Given the description of an element on the screen output the (x, y) to click on. 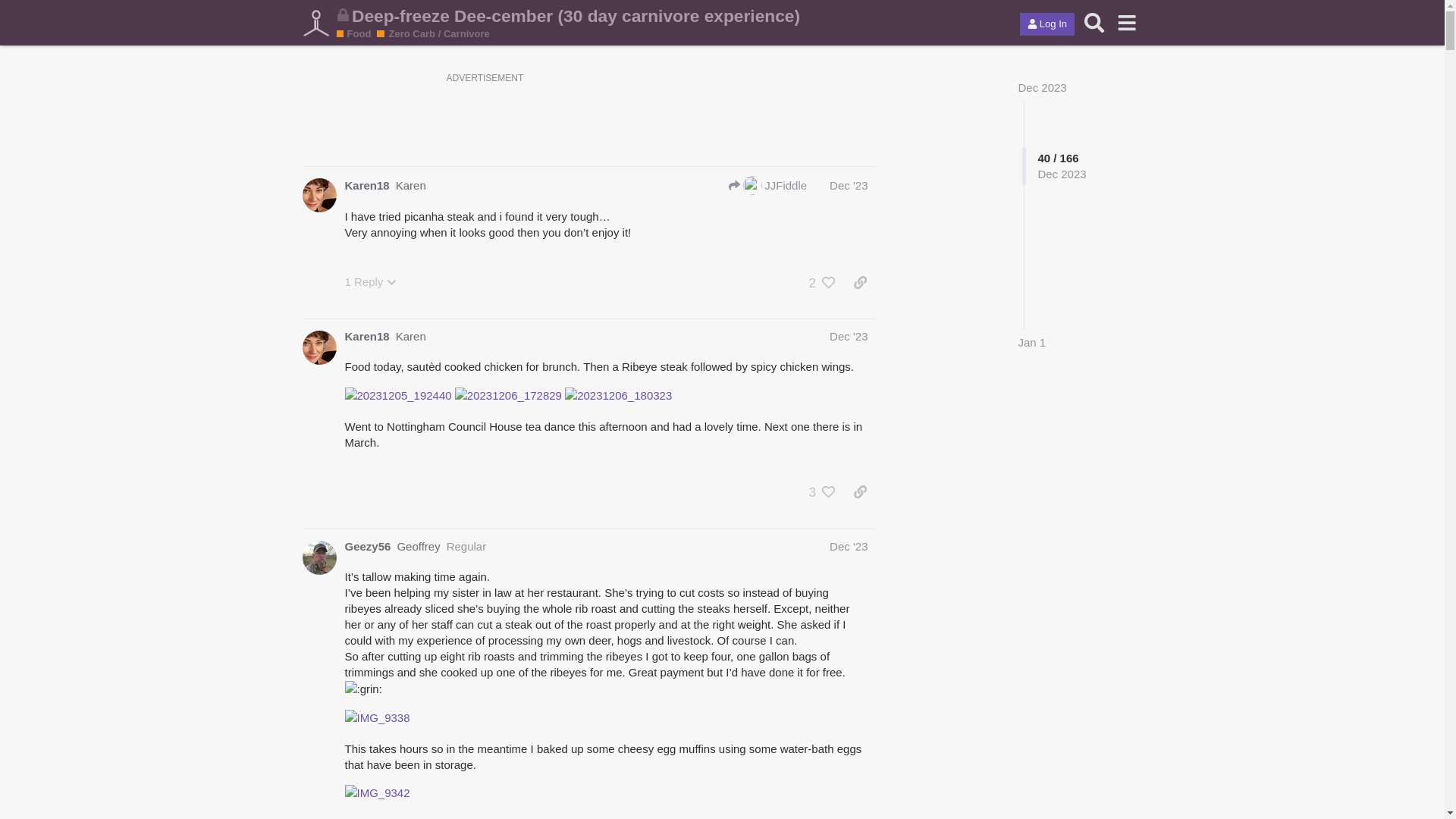
Karen (318, 195)
JJFiddle (751, 185)
Dec 2023 (1041, 87)
Dec '23 (848, 336)
This topic is closed; it no longer accepts new replies (342, 14)
1 Reply (370, 281)
go to another topic list or category (1126, 22)
Dec 2023 (1041, 87)
Nom nom nom (359, 33)
Karen (318, 347)
Jan 1 (1031, 342)
1 Reply (370, 281)
search topics, posts, users, or categories (1094, 22)
JJFiddle (767, 185)
Karen (411, 185)
